Given the description of an element on the screen output the (x, y) to click on. 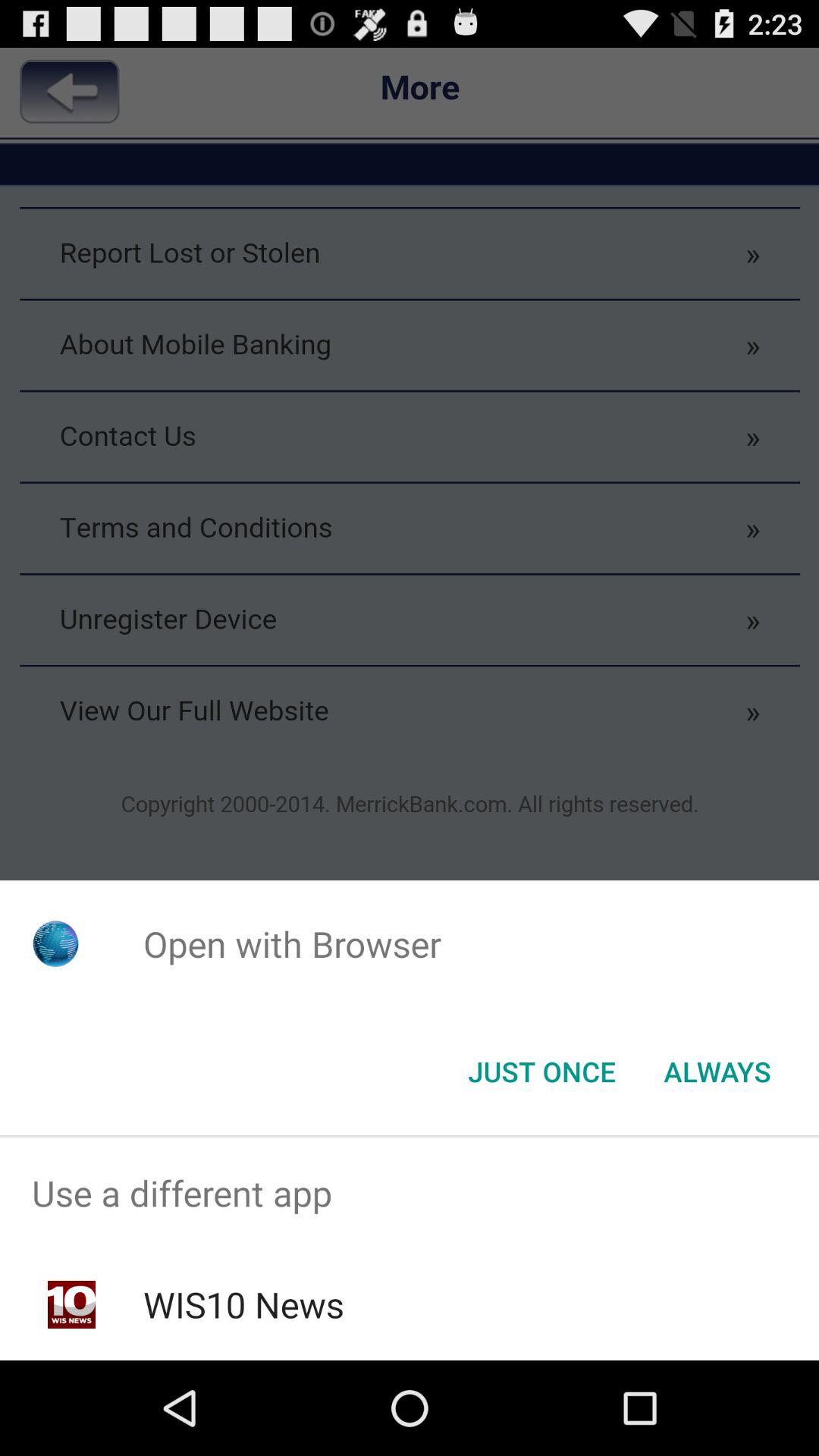
launch the always item (717, 1071)
